Given the description of an element on the screen output the (x, y) to click on. 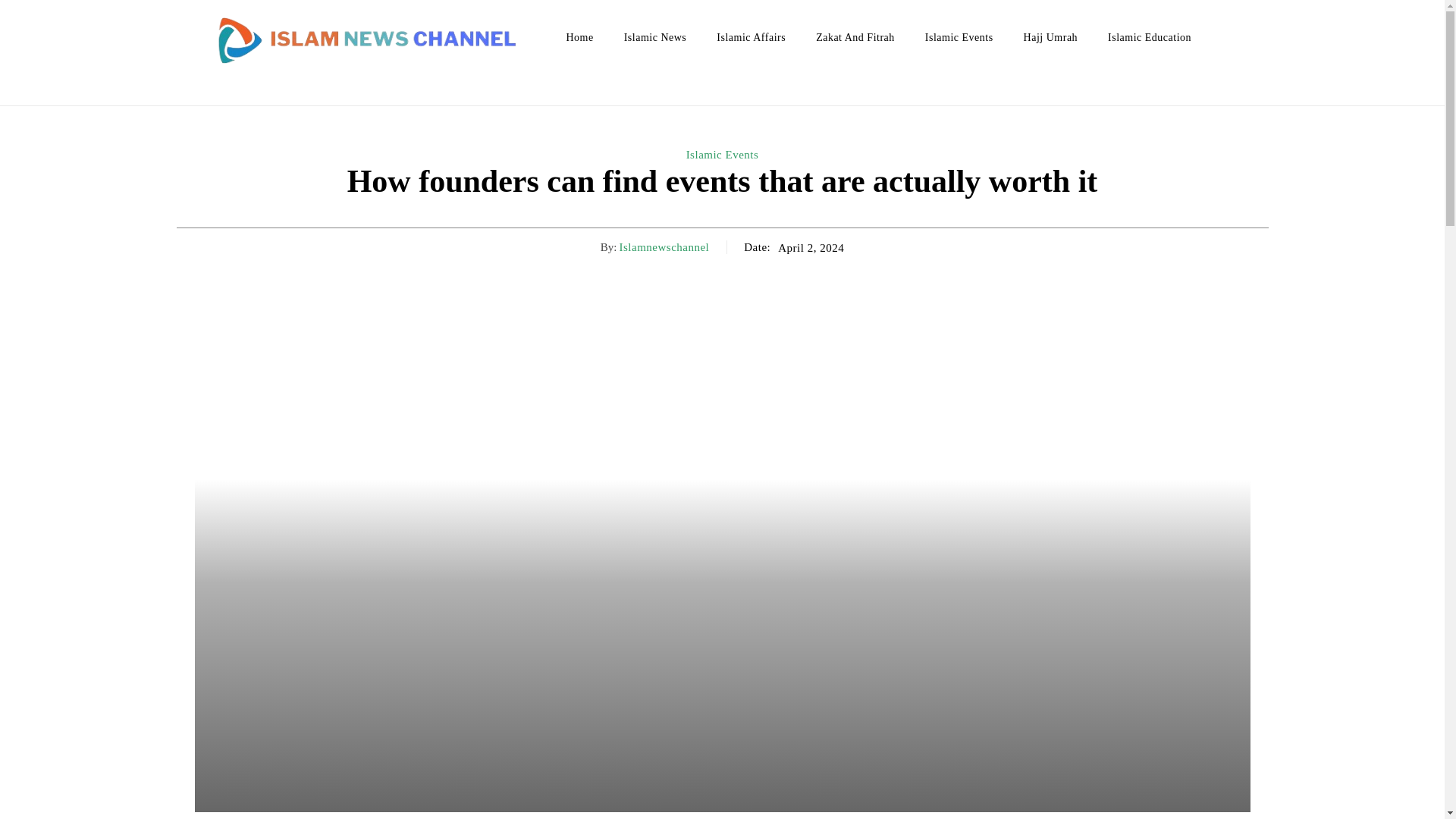
Islamic Education (1149, 37)
Islamic Events (721, 154)
Islamic Events (959, 37)
Zakat And Fitrah (855, 37)
Islamic News (654, 37)
Islamic Affairs (751, 37)
Hajj Umrah (1050, 37)
Islamnewschannel (663, 246)
